Given the description of an element on the screen output the (x, y) to click on. 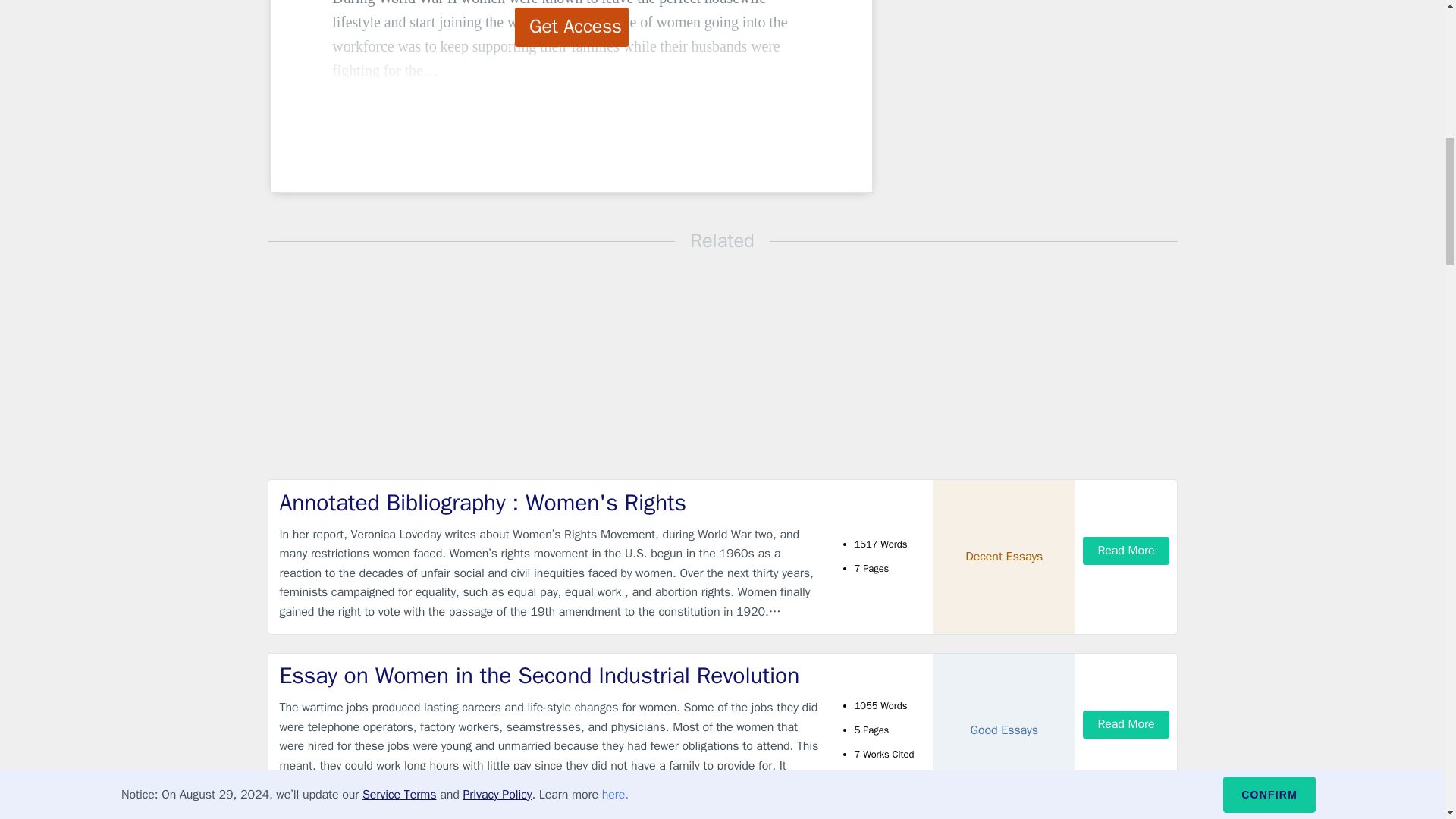
Read More (1126, 551)
Get Access (571, 26)
Annotated Bibliography : Women's Rights (548, 502)
Read More (1126, 724)
Essay on Women in the Second Industrial Revolution (548, 675)
